Given the description of an element on the screen output the (x, y) to click on. 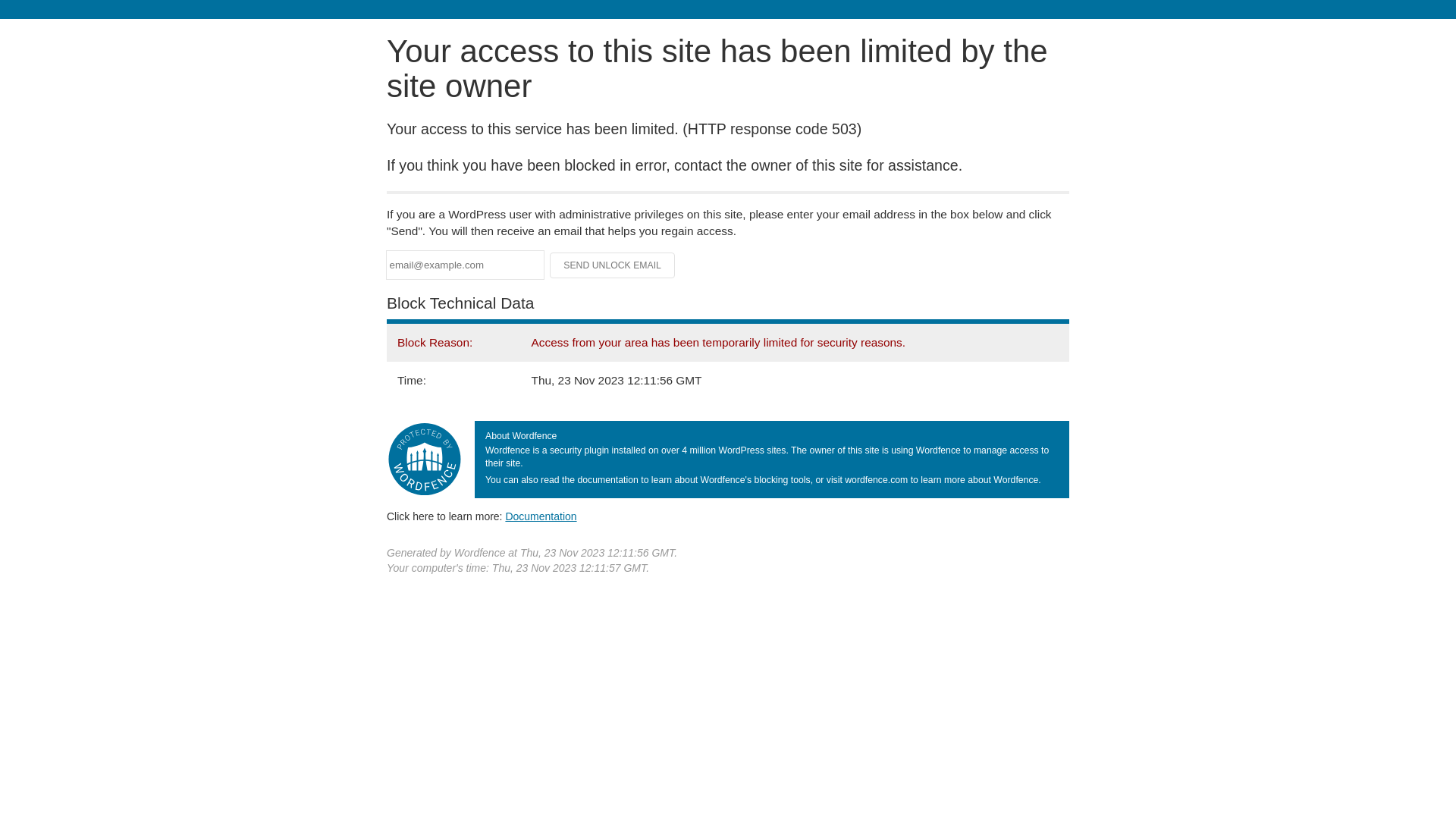
Documentation Element type: text (540, 516)
Send Unlock Email Element type: text (612, 265)
